Given the description of an element on the screen output the (x, y) to click on. 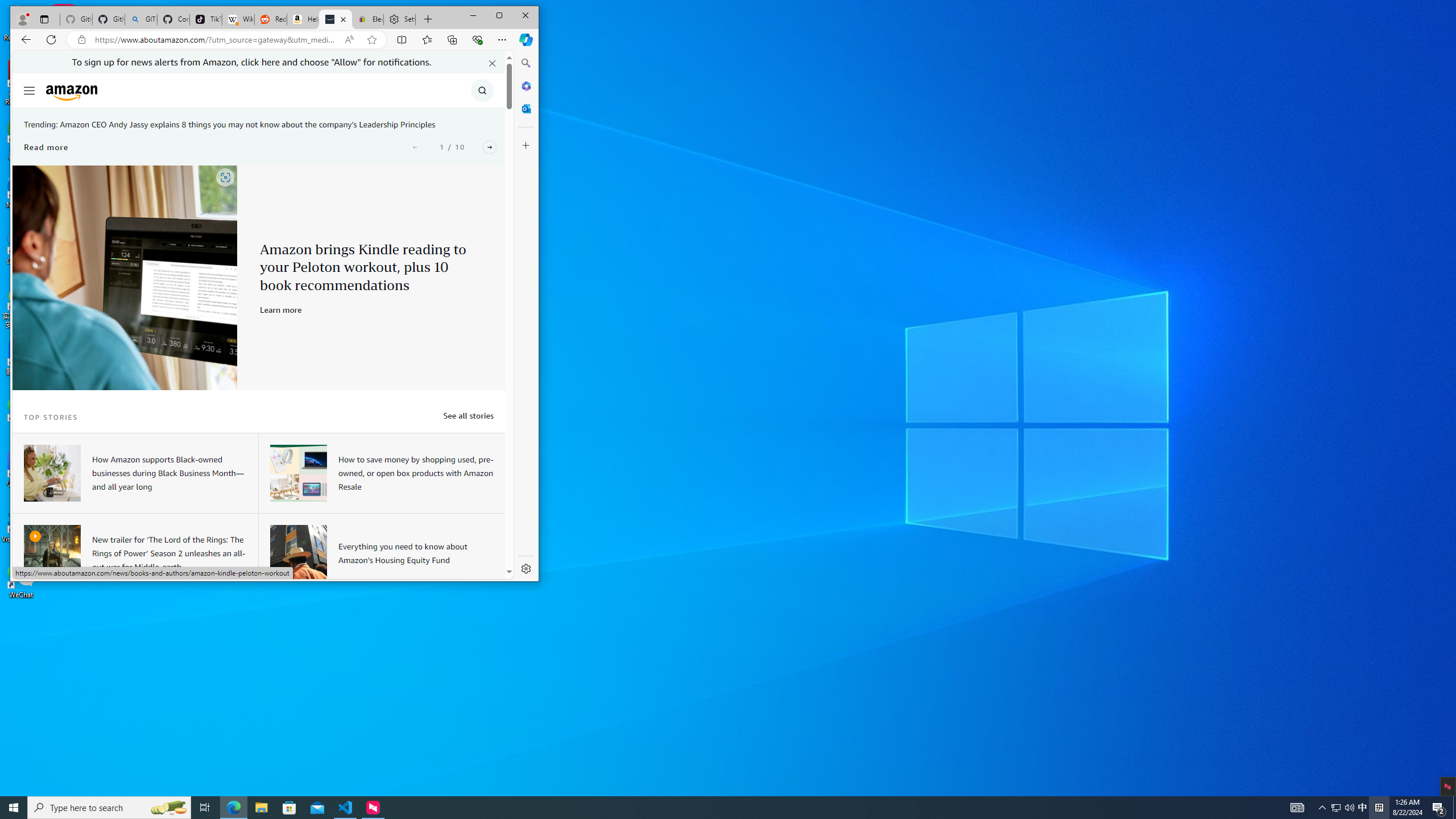
Microsoft Store (289, 807)
Wikipedia, the free encyclopedia (237, 19)
Microsoft Edge - 1 running window (233, 807)
TikTok (205, 19)
Search highlights icon opens search home window (167, 807)
Reddit - Dive into anything (269, 19)
